Given the description of an element on the screen output the (x, y) to click on. 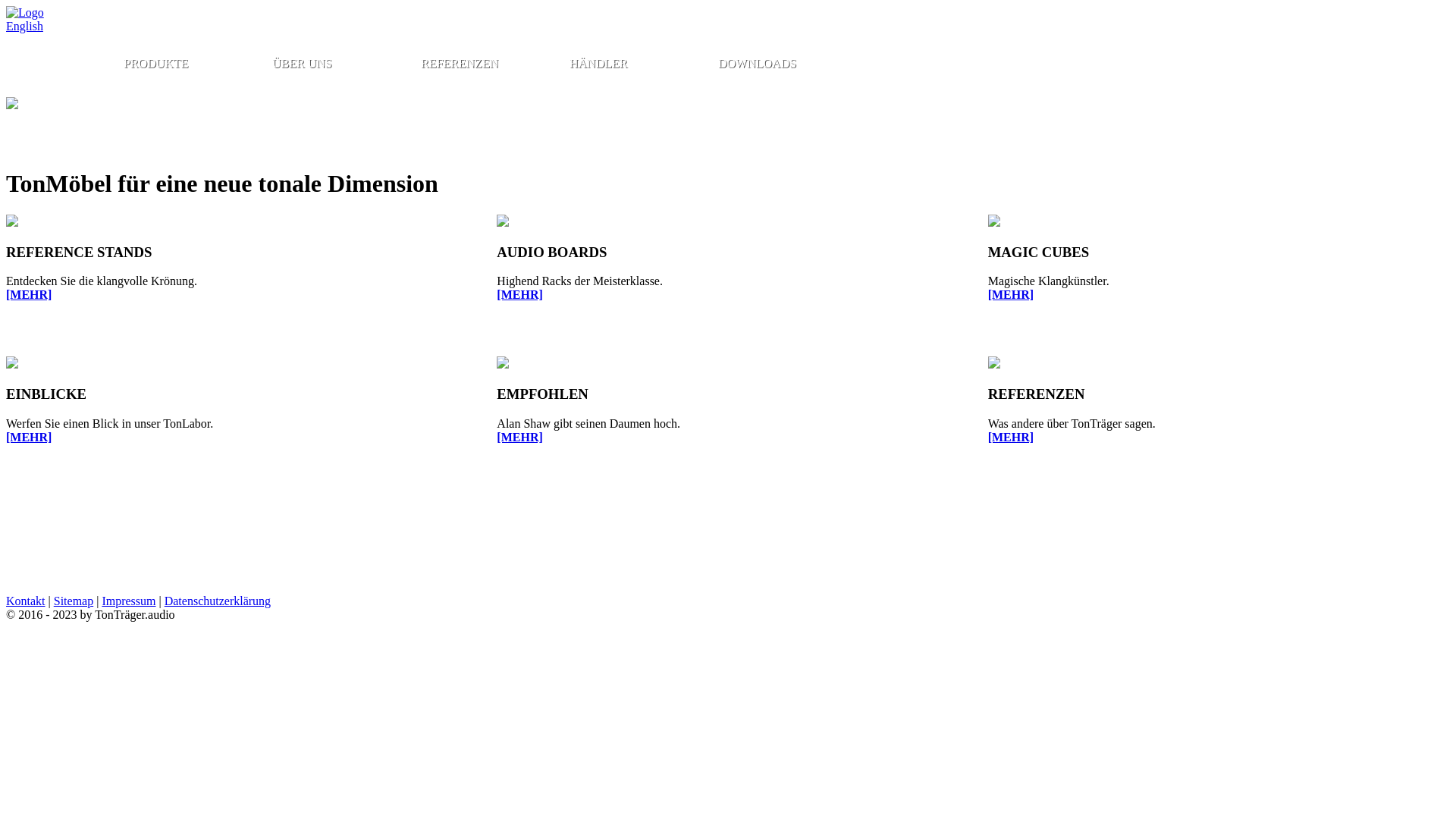
Impressum Element type: text (128, 600)
DOWNLOADS Element type: text (786, 63)
[MEHR] Element type: text (519, 436)
REFERENZEN Element type: text (489, 63)
Kontakt Element type: text (25, 600)
[MEHR] Element type: text (1010, 294)
Sitemap Element type: text (73, 600)
English Element type: text (24, 25)
[MEHR] Element type: text (28, 436)
[MEHR] Element type: text (519, 294)
[MEHR] Element type: text (28, 294)
[MEHR] Element type: text (1010, 436)
PRODUKTE Element type: text (191, 63)
